Given the description of an element on the screen output the (x, y) to click on. 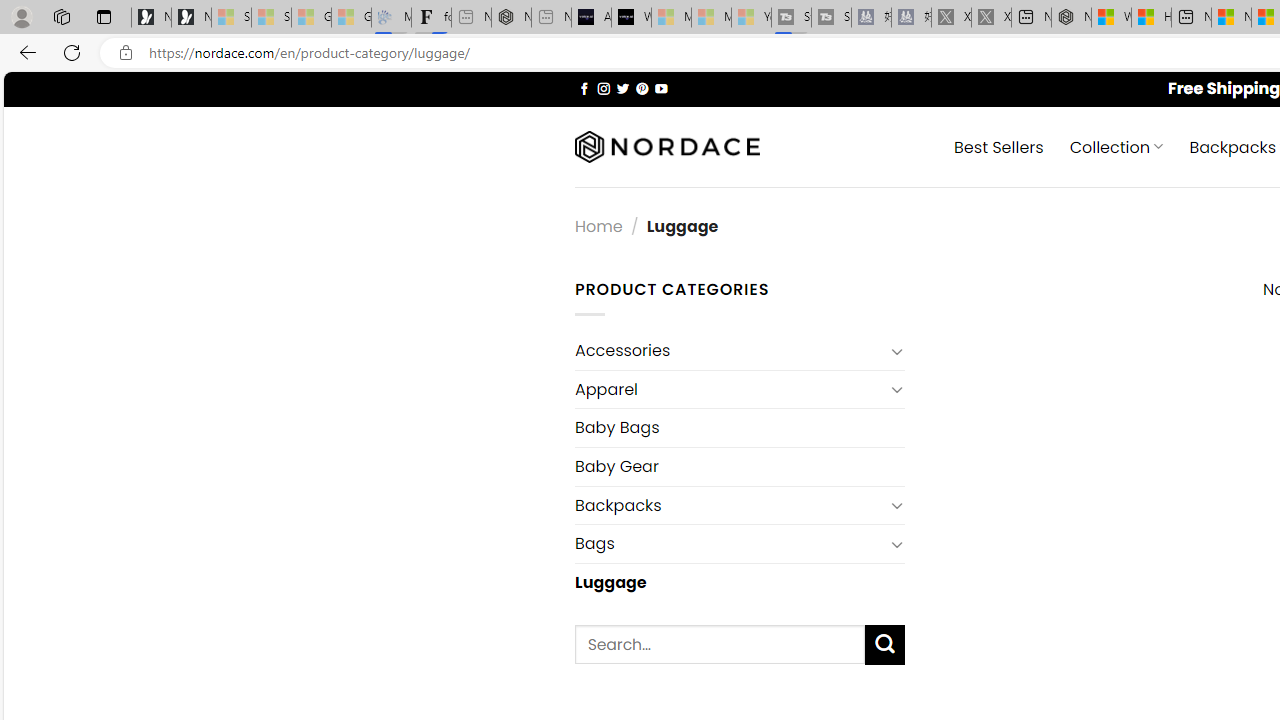
Follow on Twitter (621, 88)
Newsletter Sign Up (191, 17)
Luggage (739, 581)
Submit (884, 644)
Baby Bags (739, 427)
Follow on Pinterest (642, 88)
Follow on YouTube (661, 88)
